Given the description of an element on the screen output the (x, y) to click on. 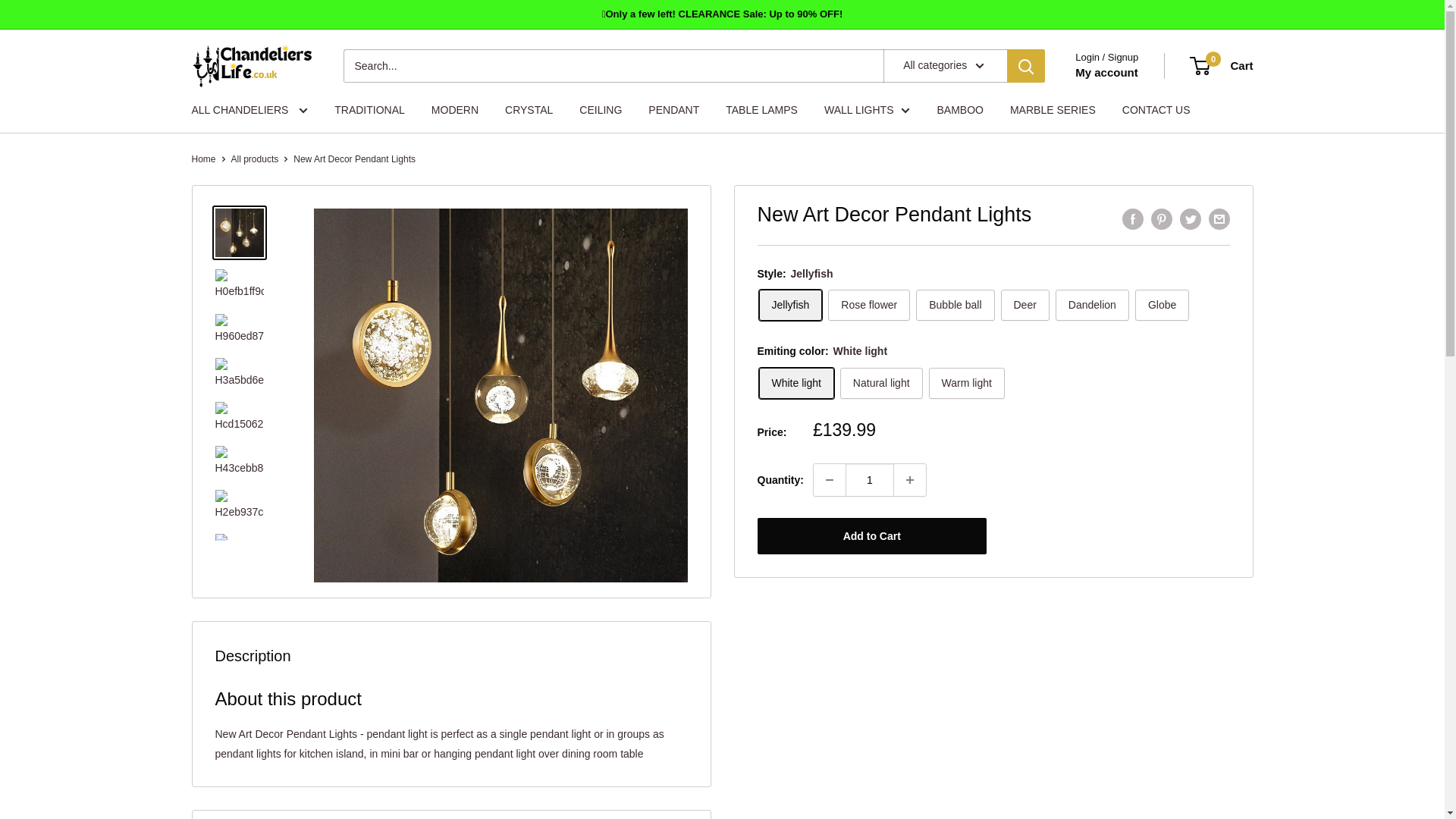
Dandelion (1092, 305)
Natural light (881, 382)
Deer (1025, 305)
1 (869, 480)
Globe (1162, 305)
Warm light (966, 382)
Increase quantity by 1 (909, 480)
Decrease quantity by 1 (829, 480)
Bubble ball (954, 305)
Jellyfish (790, 305)
White light (795, 382)
Rose flower (869, 305)
